Given the description of an element on the screen output the (x, y) to click on. 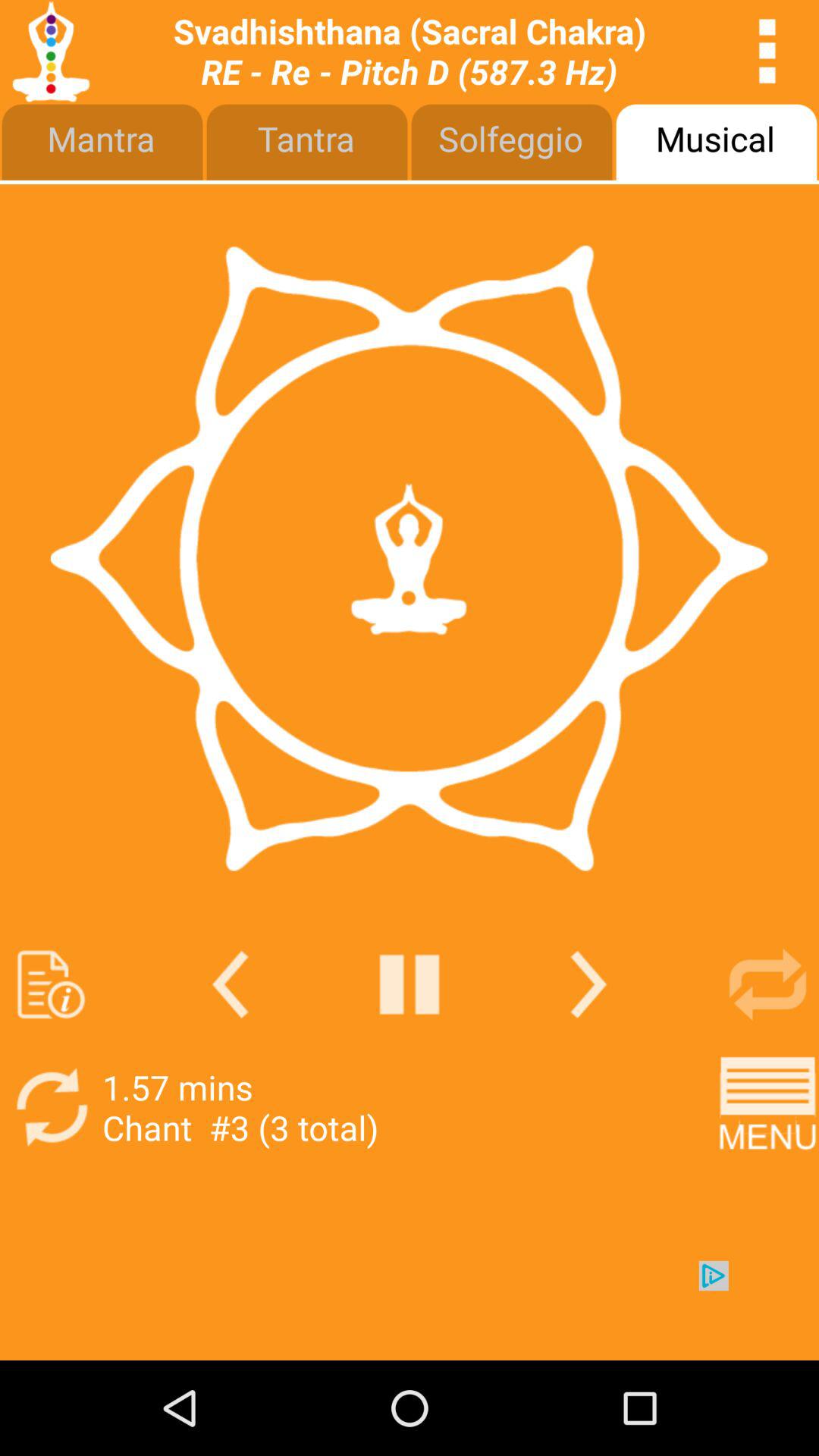
page information help (51, 984)
